Given the description of an element on the screen output the (x, y) to click on. 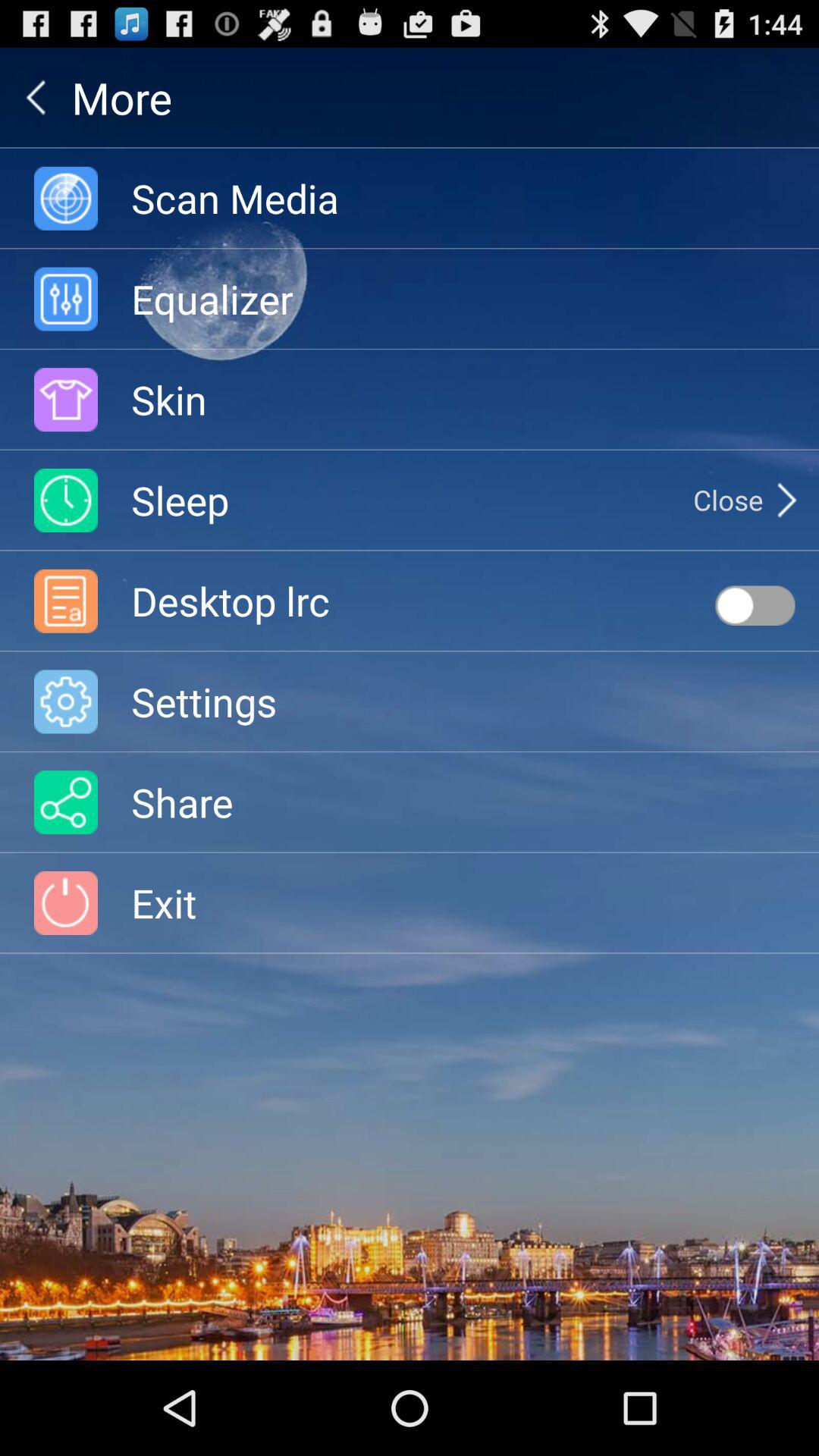
open the icon to the left of the more icon (35, 97)
